Given the description of an element on the screen output the (x, y) to click on. 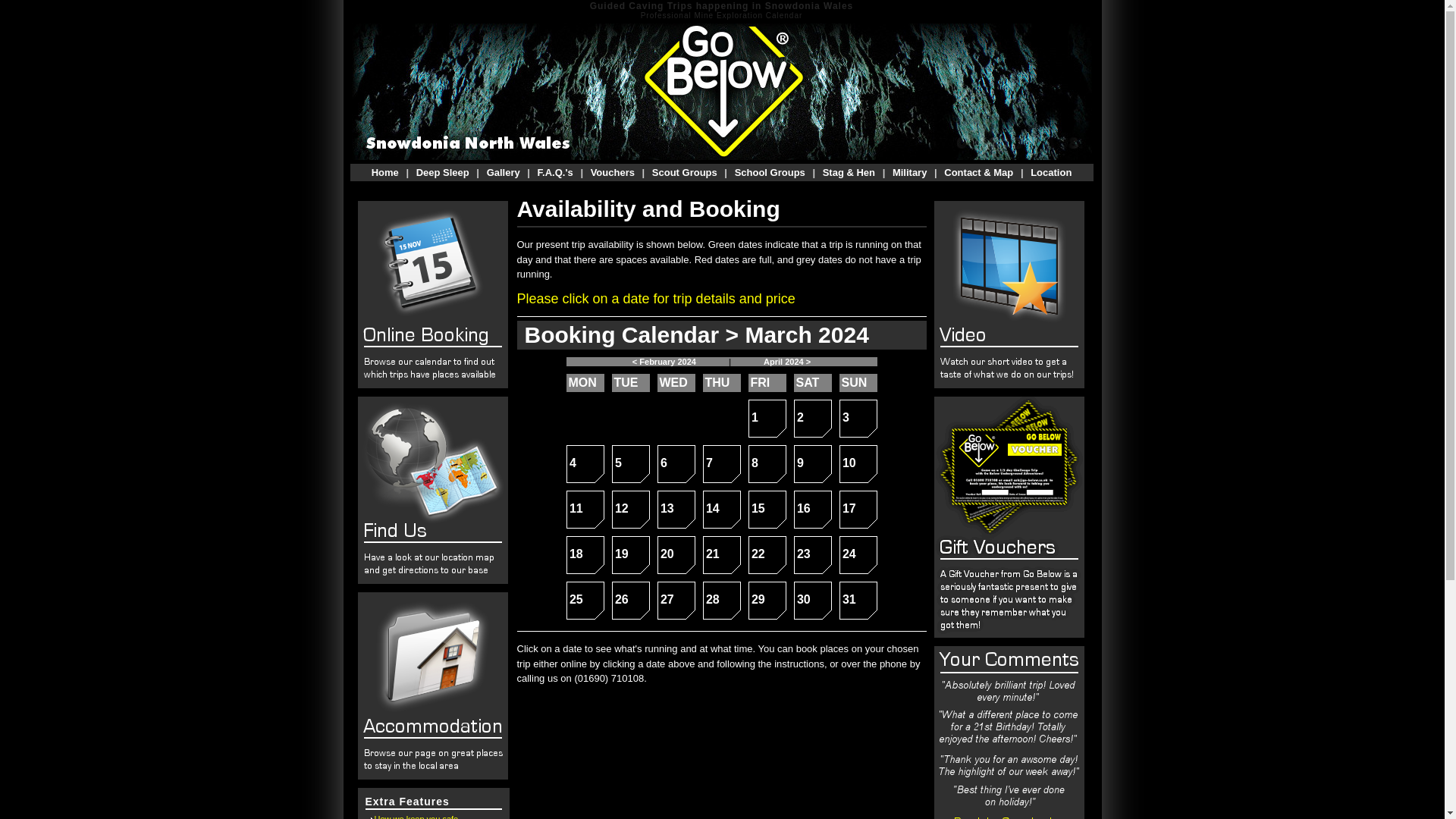
Scout Groups (684, 172)
Vouchers (812, 464)
Military (767, 418)
School Groups (612, 172)
Home (909, 172)
